Given the description of an element on the screen output the (x, y) to click on. 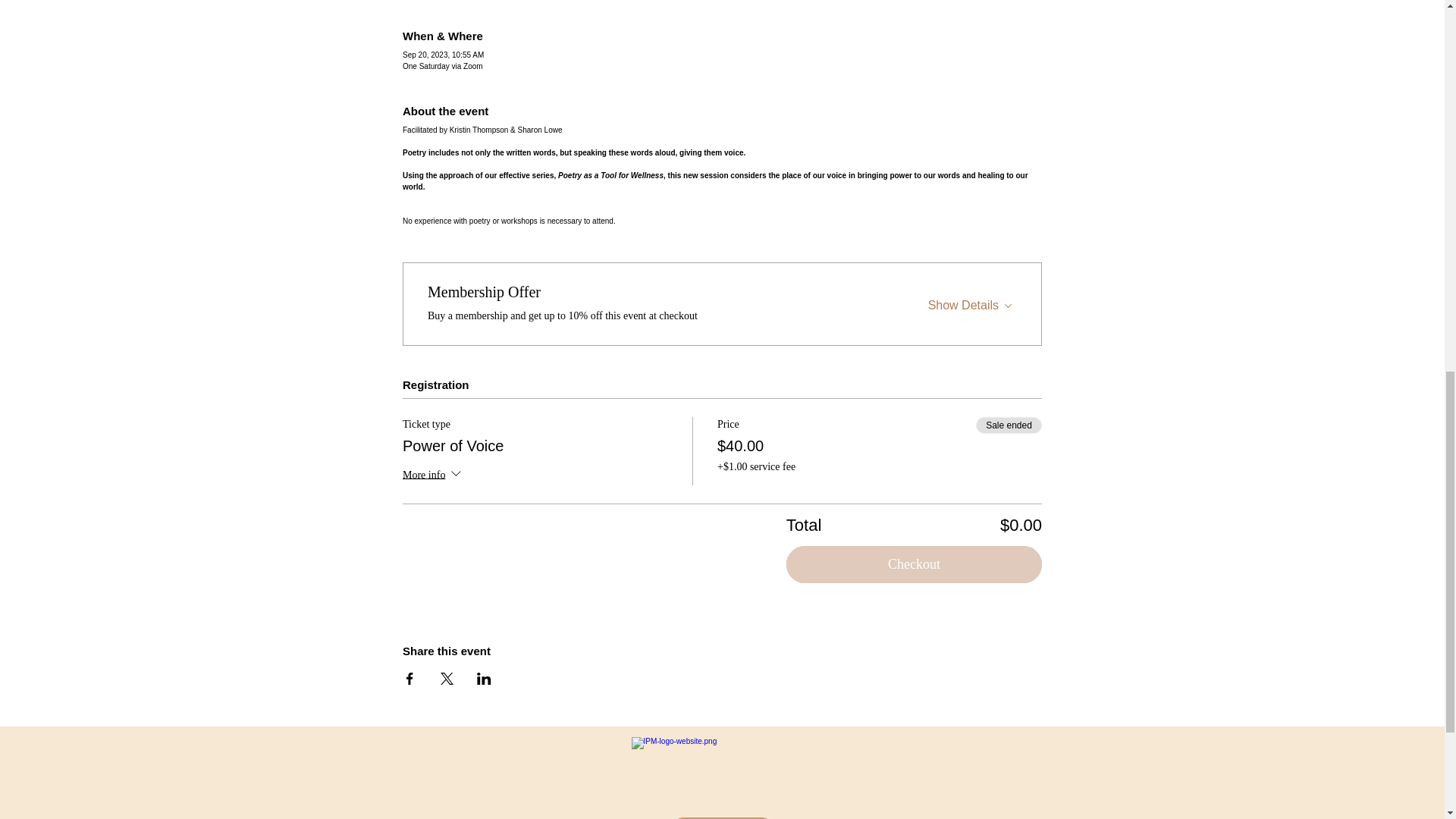
Show Details (972, 301)
More info (433, 476)
Donate (722, 818)
Checkout (914, 564)
